Given the description of an element on the screen output the (x, y) to click on. 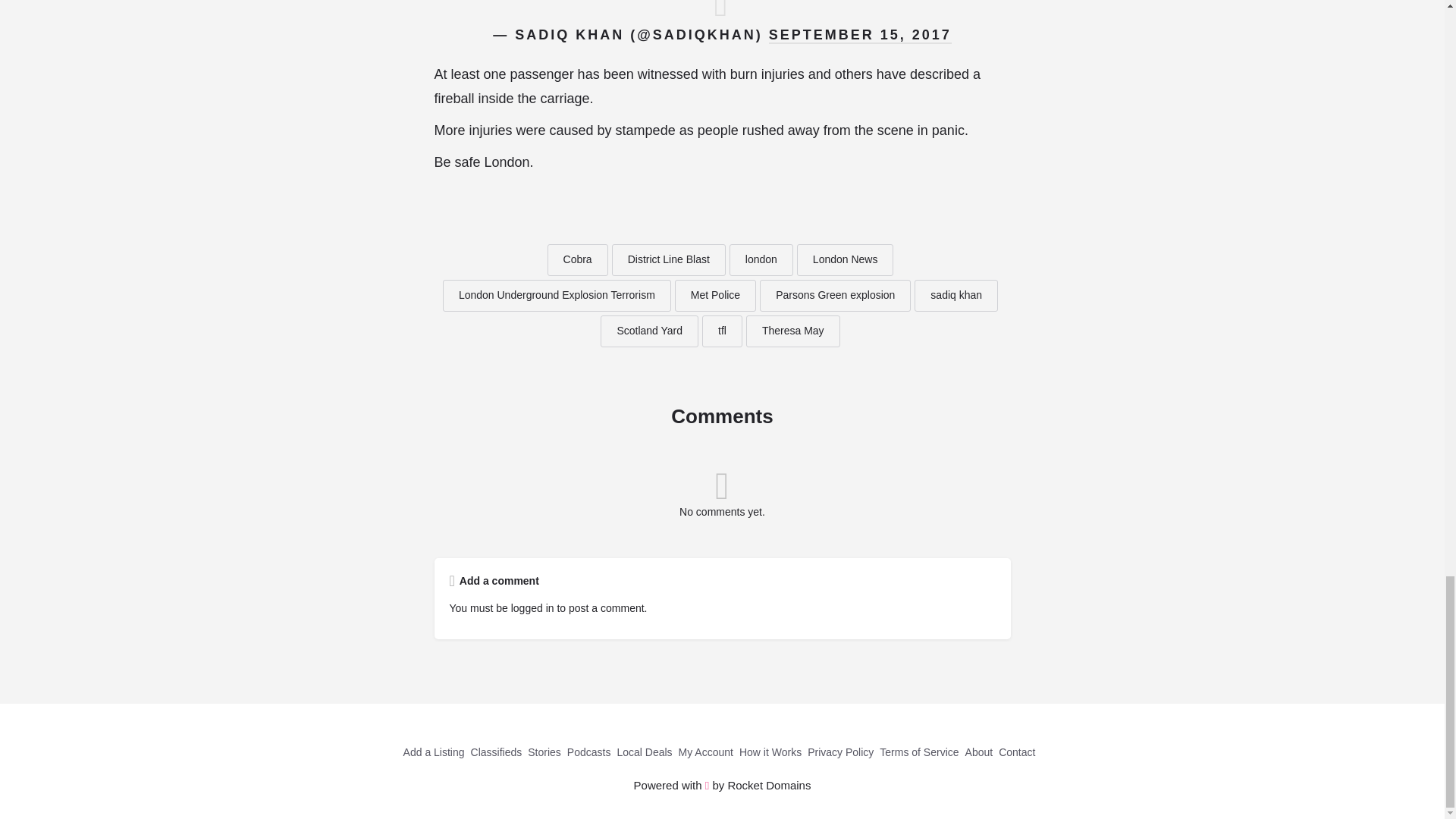
Cobra (577, 260)
Parsons Green explosion (835, 296)
District Line Blast (668, 260)
London Underground Explosion Terrorism (556, 296)
Met Police (715, 296)
SEPTEMBER 15, 2017 (860, 35)
London News (844, 260)
london (761, 260)
sadiq khan (955, 296)
Scotland Yard (648, 331)
